Given the description of an element on the screen output the (x, y) to click on. 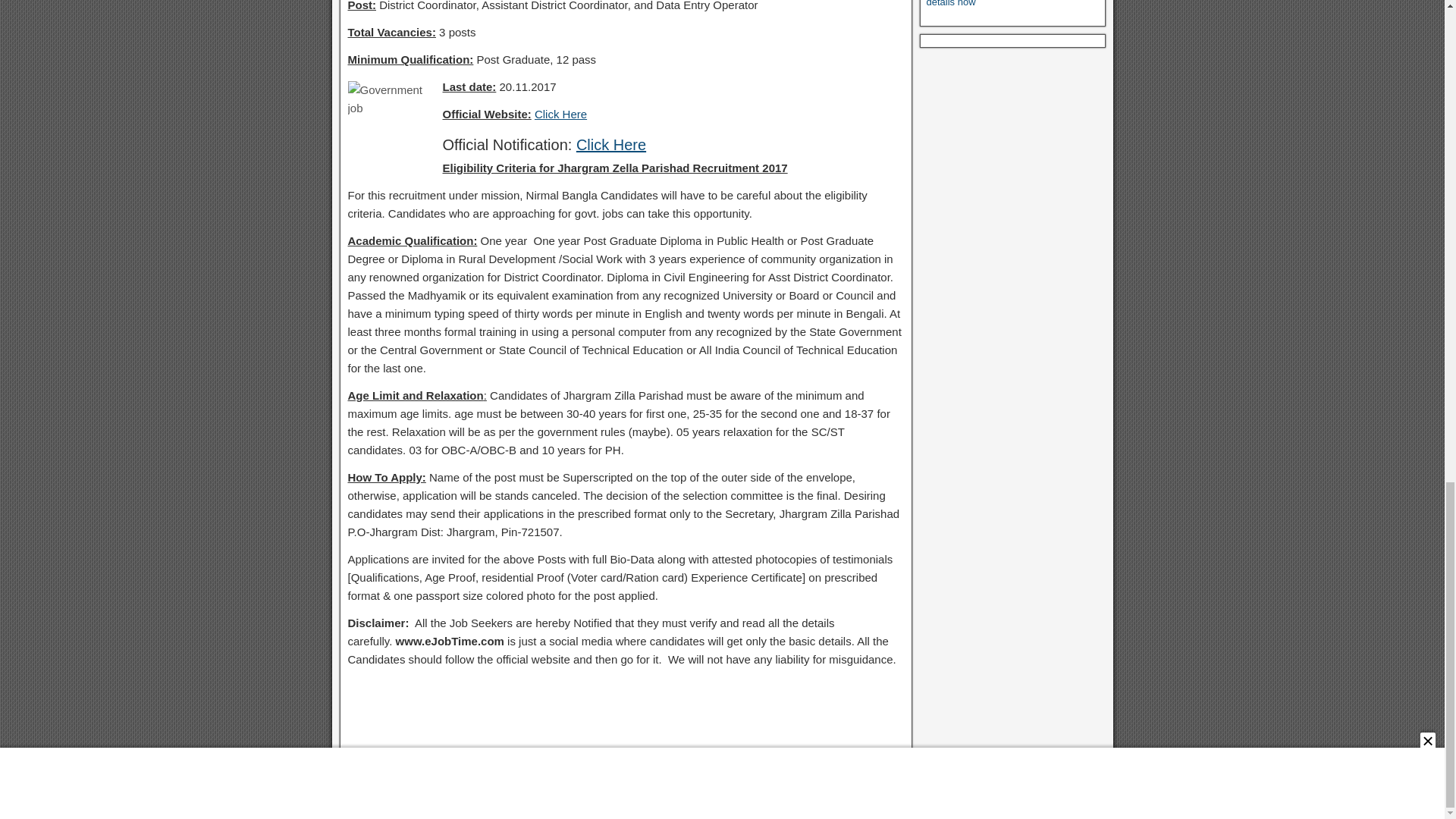
Click Here (560, 113)
Click Here (611, 143)
Frontier Theme (1066, 805)
